Given the description of an element on the screen output the (x, y) to click on. 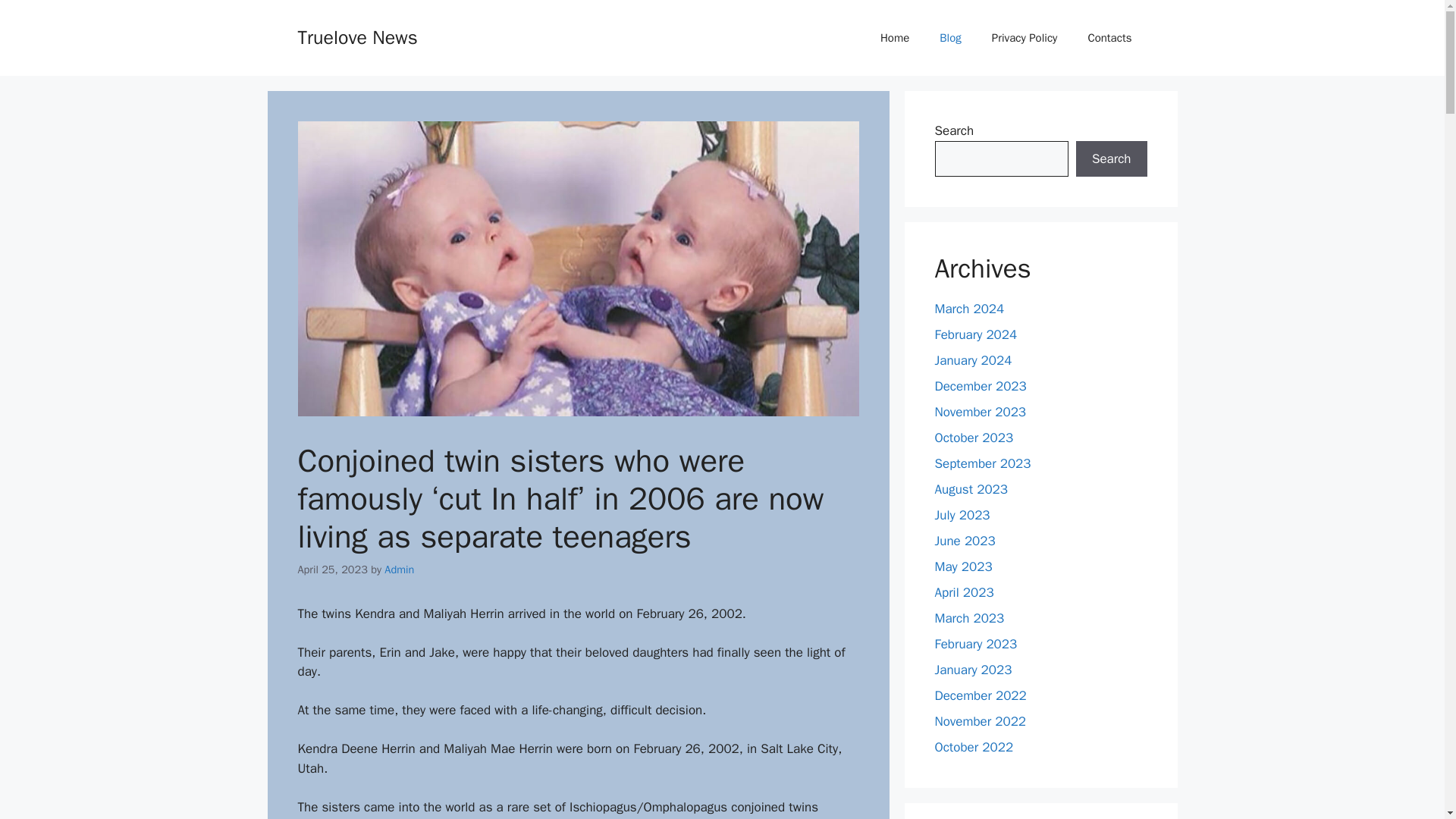
September 2023 (982, 463)
March 2024 (969, 308)
January 2024 (972, 360)
Admin (398, 569)
February 2024 (975, 334)
December 2023 (980, 385)
December 2022 (980, 695)
Privacy Policy (1024, 37)
Search (1111, 158)
Truelove News (356, 37)
April 2023 (963, 592)
January 2023 (972, 669)
August 2023 (970, 489)
Home (894, 37)
May 2023 (962, 566)
